Given the description of an element on the screen output the (x, y) to click on. 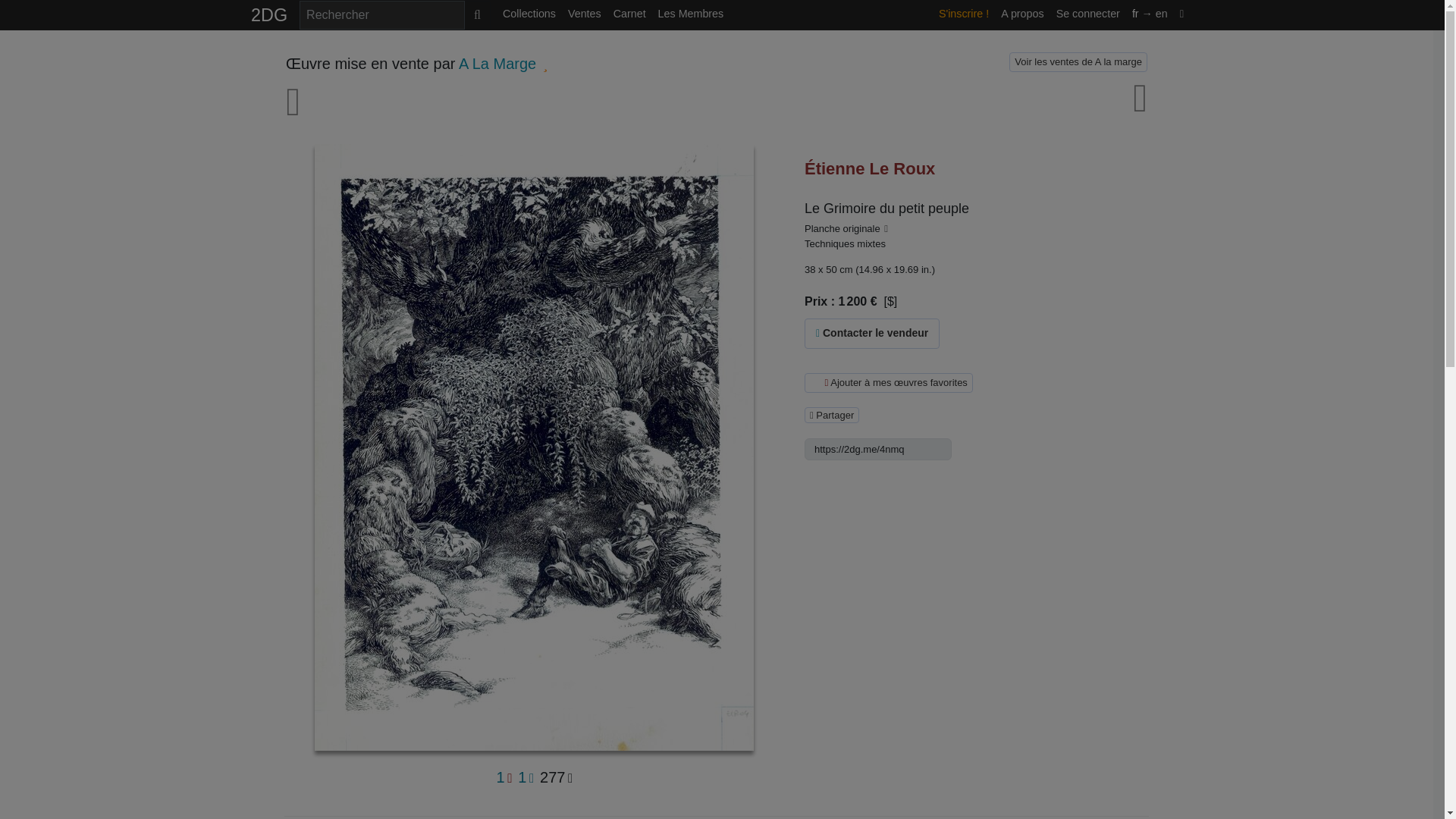
Carnet (629, 13)
Ventes (584, 13)
Voir les ventes de A la marge (1078, 62)
1 (504, 778)
Se connecter (1087, 13)
S'inscrire ! (963, 13)
Suivante (1136, 107)
Les Membres (691, 13)
Collections (529, 13)
Le Carnet (629, 13)
A propos (1021, 13)
A La Marge (496, 63)
1 (526, 778)
2DG (268, 15)
Collections (529, 13)
